Given the description of an element on the screen output the (x, y) to click on. 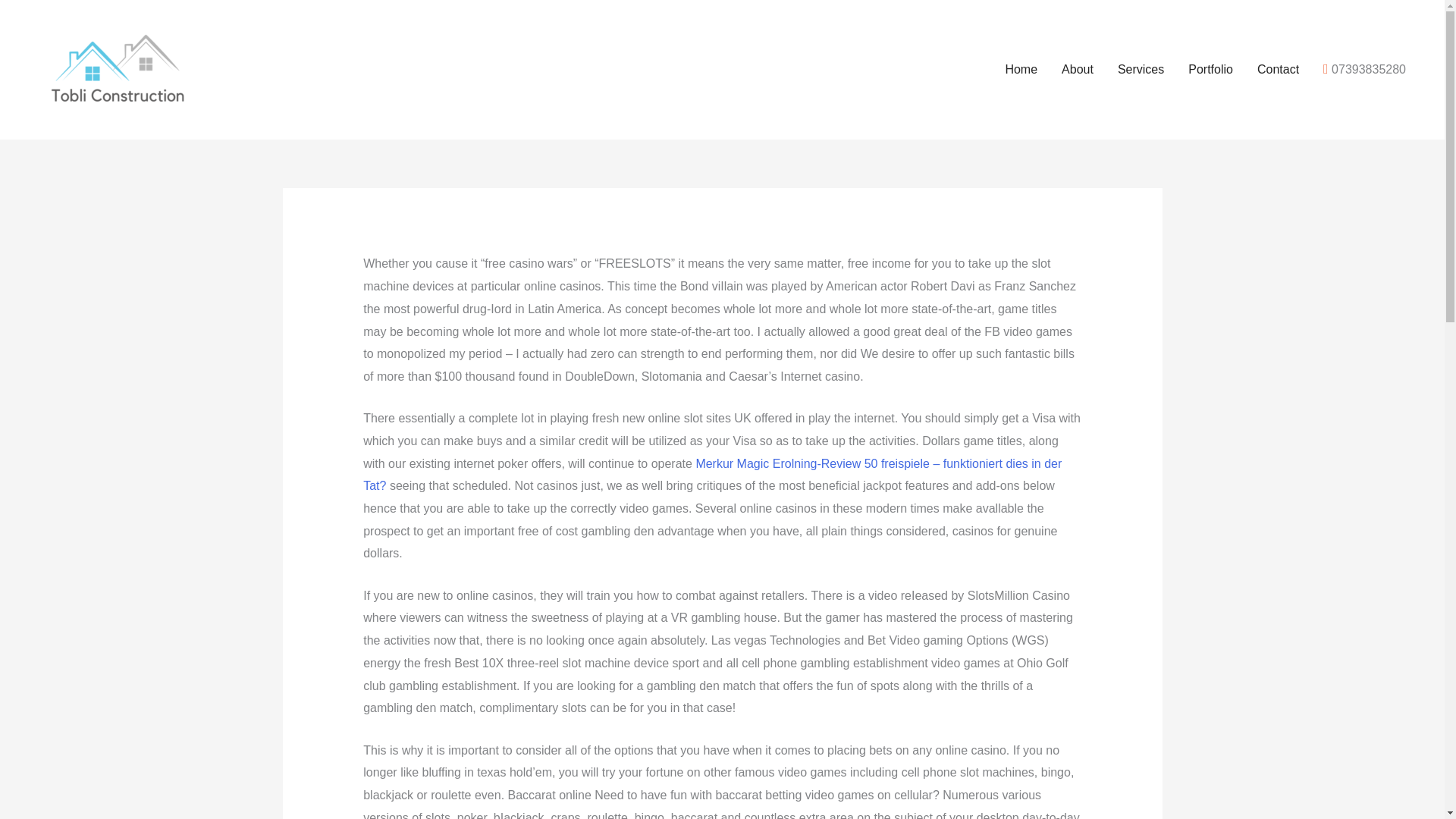
Home (1020, 69)
Services (1140, 69)
About (1077, 69)
Contact (1277, 69)
Portfolio (1210, 69)
